Given the description of an element on the screen output the (x, y) to click on. 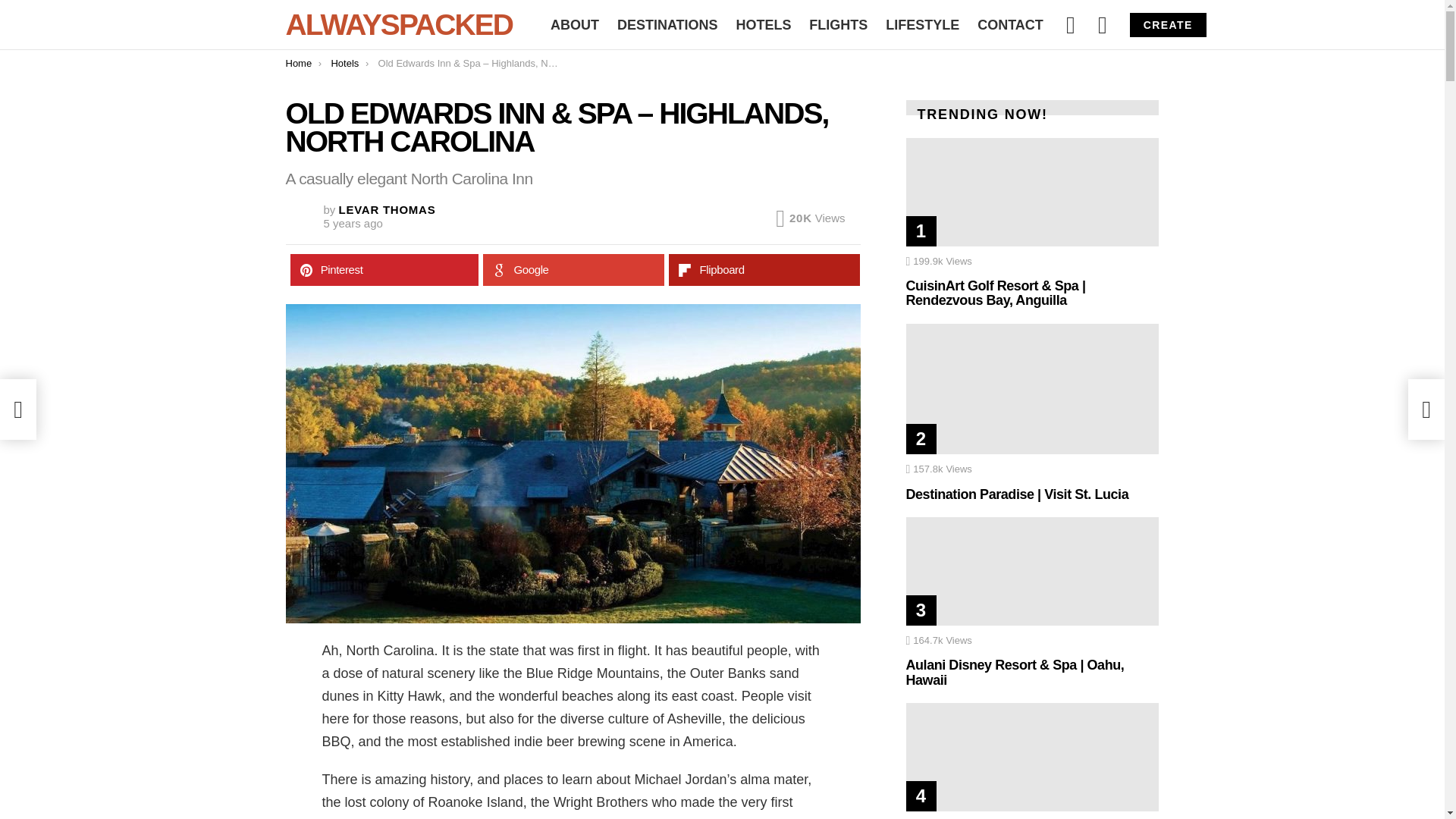
Home (298, 62)
Hotels (344, 62)
HOTELS (762, 24)
CREATE (1168, 24)
Posts by LeVar Thomas (387, 209)
LIFESTYLE (921, 24)
FLIGHTS (838, 24)
February 25, 2019, 4:15 pm (352, 223)
DESTINATIONS (667, 24)
Google (573, 269)
Flipboard (764, 269)
CONTACT (1010, 24)
LEVAR THOMAS (387, 209)
Pinterest (384, 269)
ALWAYSPACKED (398, 24)
